Given the description of an element on the screen output the (x, y) to click on. 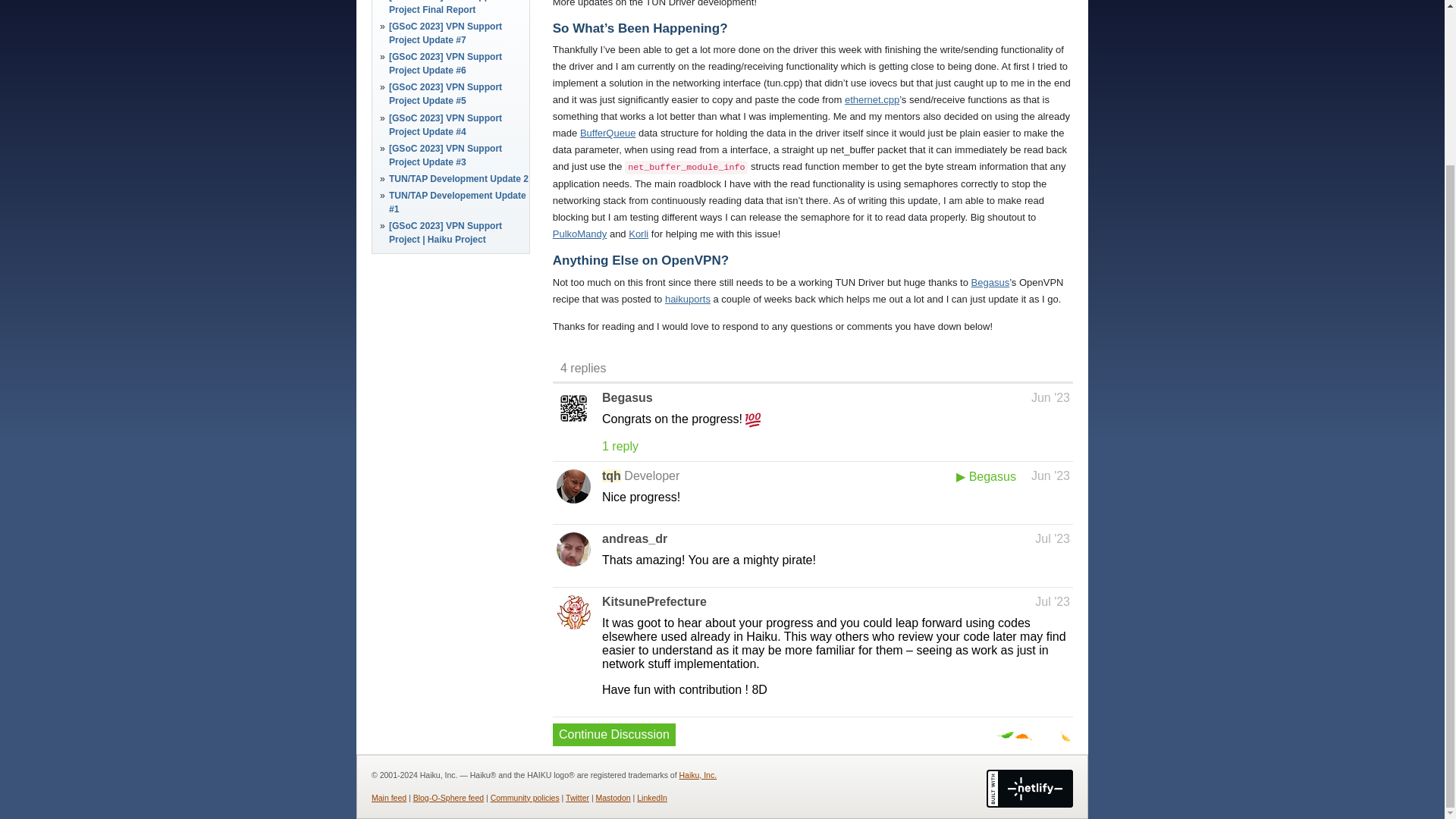
Twitter (577, 797)
Community policies (524, 797)
LinkedIn (651, 797)
PulkoMandy (580, 233)
haikuports (687, 298)
Main feed (388, 797)
Begasus (990, 282)
Blog-O-Sphere feed (448, 797)
ethernet.cpp (871, 99)
Haiku, Inc. (698, 774)
Korli (637, 233)
BufferQueue (606, 132)
Mastodon (612, 797)
